Given the description of an element on the screen output the (x, y) to click on. 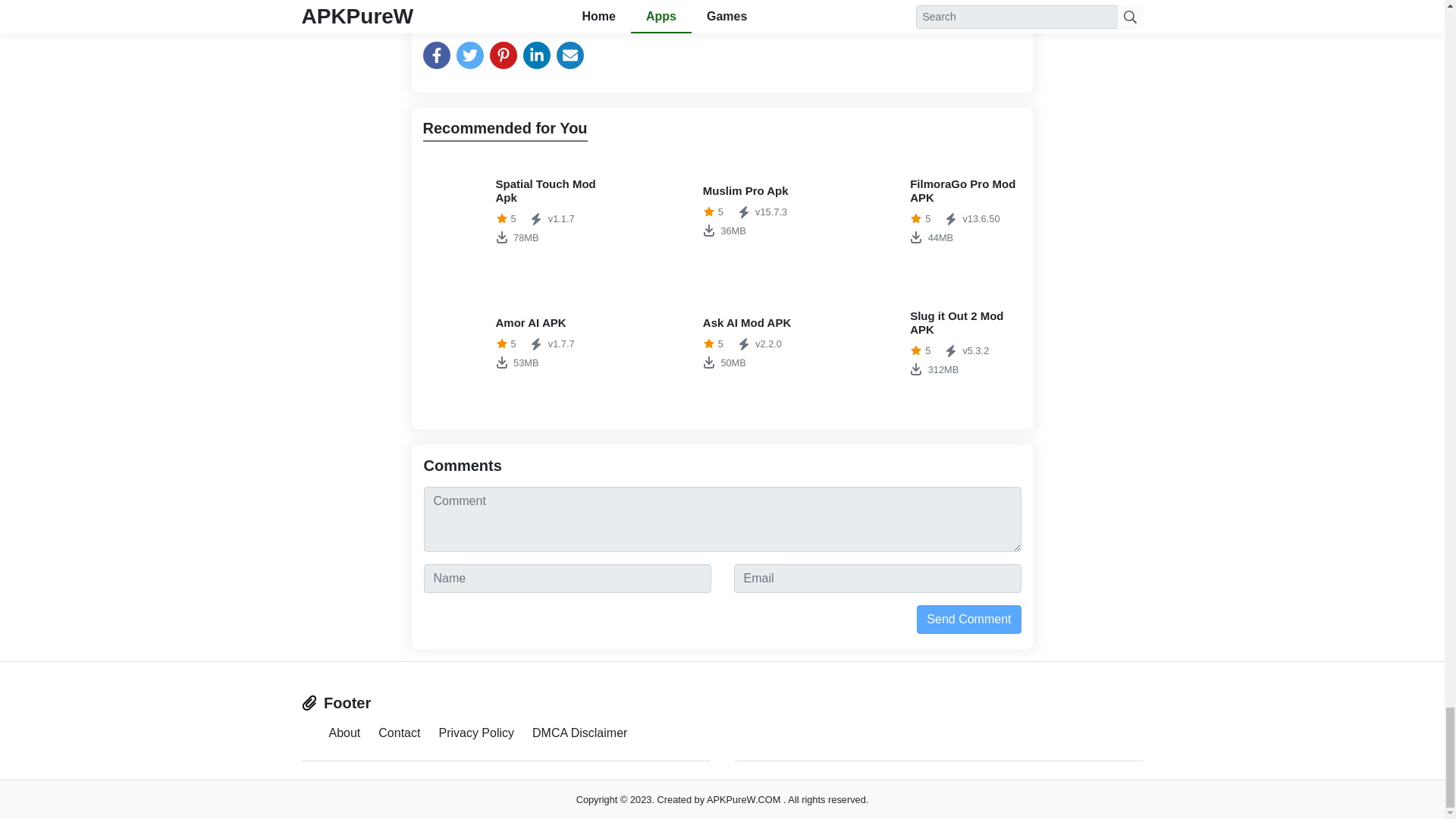
 Slug it Out 2 Mod APK (929, 342)
 FilmoraGo Pro Mod APK (721, 342)
About (515, 210)
 Ask AI Mod APK (515, 342)
 Amor AI APK  (929, 210)
